Given the description of an element on the screen output the (x, y) to click on. 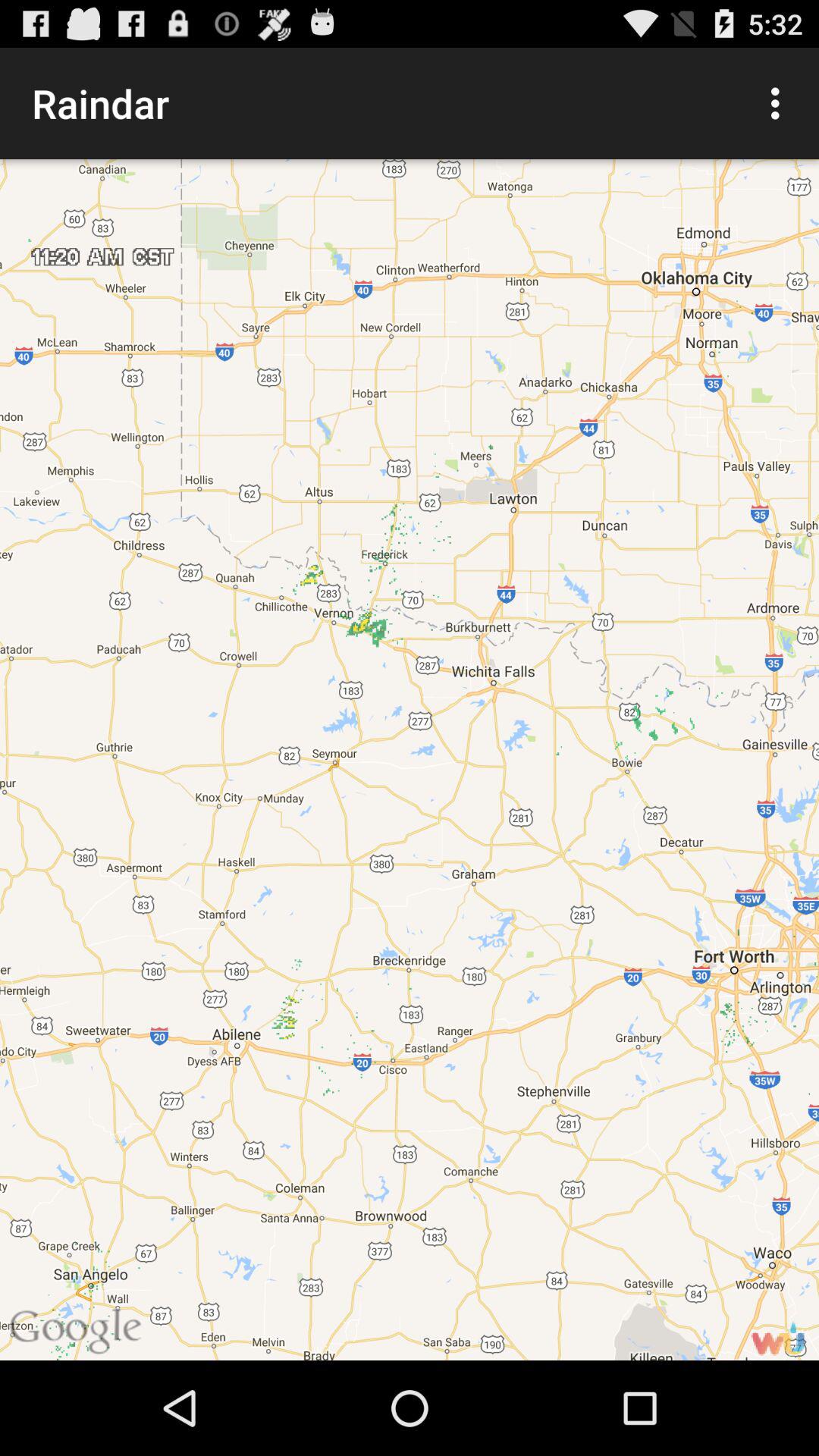
select the item at the center (409, 759)
